Given the description of an element on the screen output the (x, y) to click on. 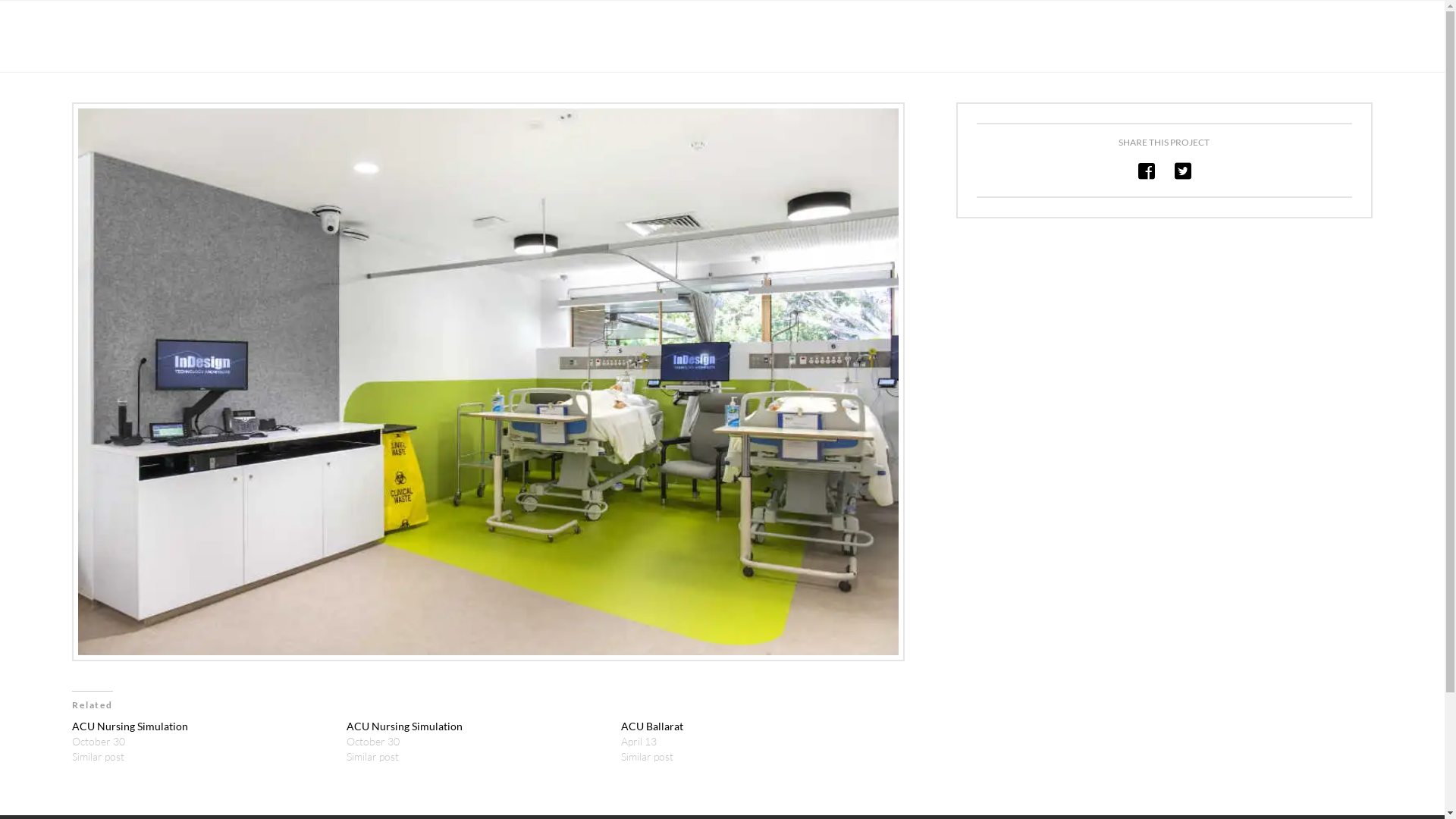
ACU Nursing Simulation Element type: text (404, 725)
HOME Element type: text (818, 37)
CLIENTS Element type: text (1058, 37)
SERVICES Element type: text (979, 37)
PRODUCTS Element type: text (894, 37)
AWARDS Element type: text (1134, 37)
ACU Nursing Simulation Element type: text (130, 725)
CONTACT Element type: text (1338, 37)
ACU Ballarat Element type: text (652, 725)
Award winning technology architects Element type: hover (147, 36)
MEDIA Element type: text (1204, 37)
ABOUT Element type: text (1271, 37)
